Given the description of an element on the screen output the (x, y) to click on. 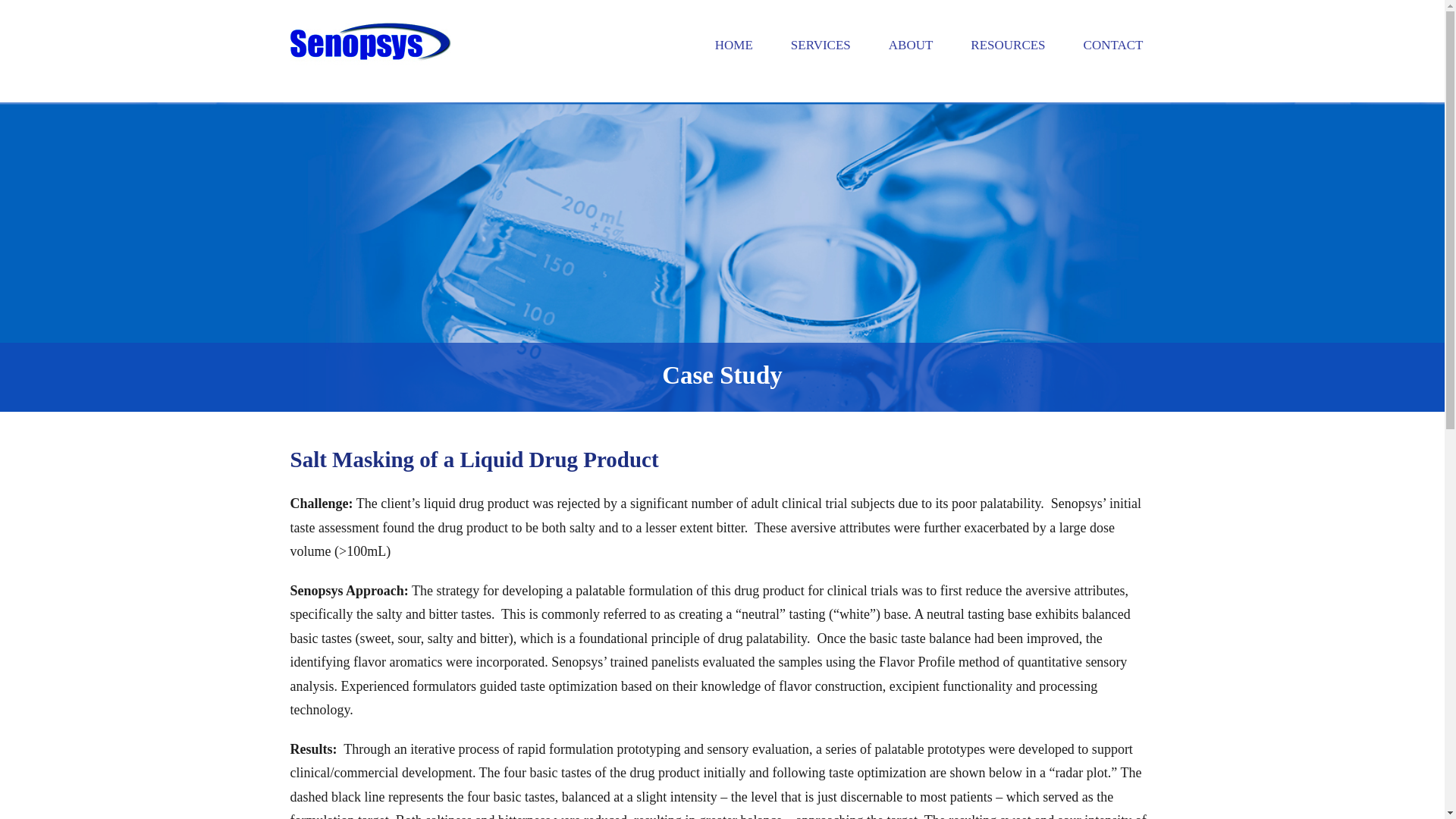
ABOUT (910, 45)
CONTACT (1112, 45)
SERVICES (819, 45)
RESOURCES (1008, 45)
HOME (733, 45)
